Given the description of an element on the screen output the (x, y) to click on. 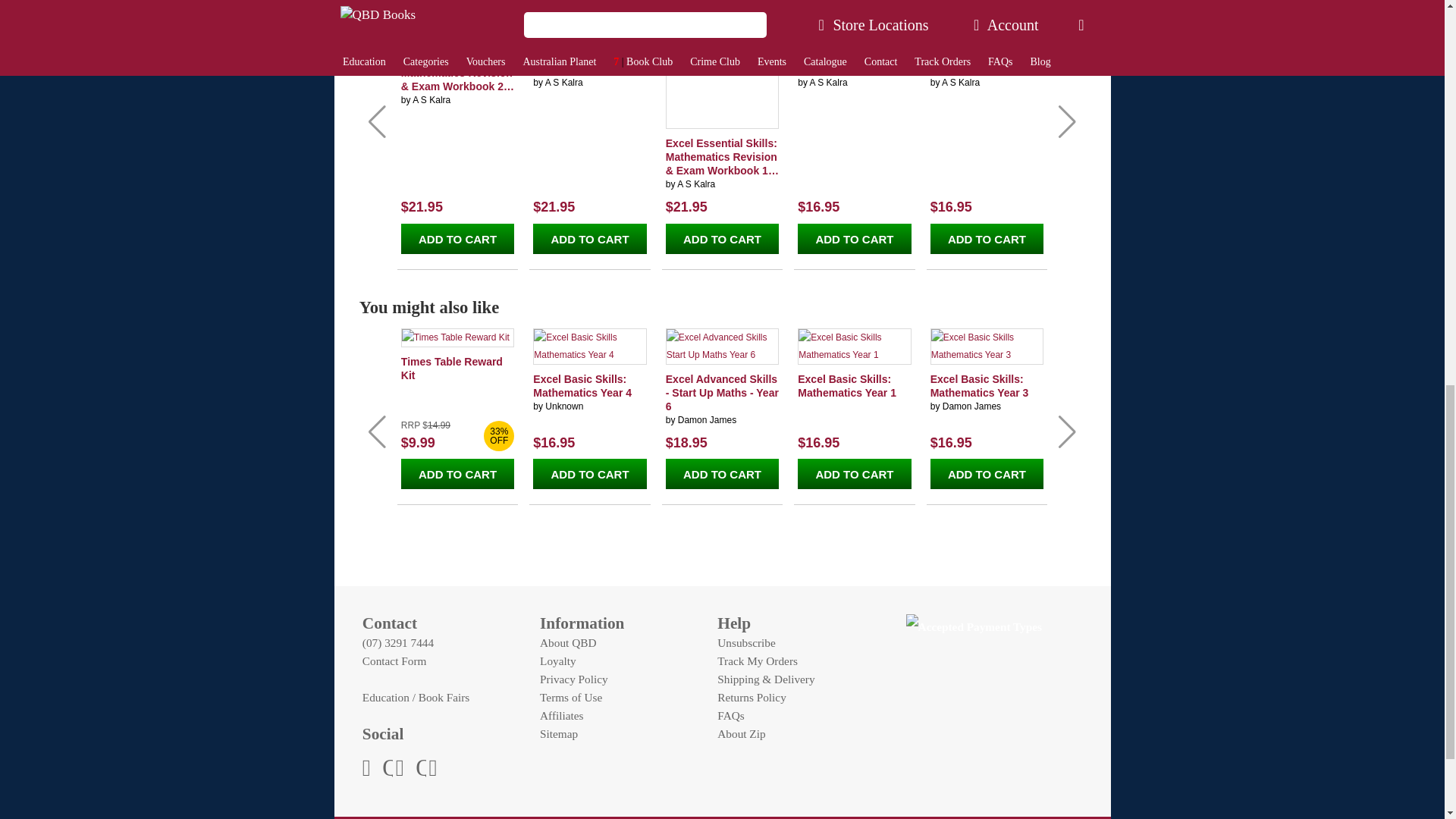
A S Kalra (695, 184)
Excel Basic Skills Addition  Subtraction  Years 5  6 (853, 62)
A S Kalra (828, 81)
A S Kalra (563, 81)
A S Kalra (430, 100)
